Given the description of an element on the screen output the (x, y) to click on. 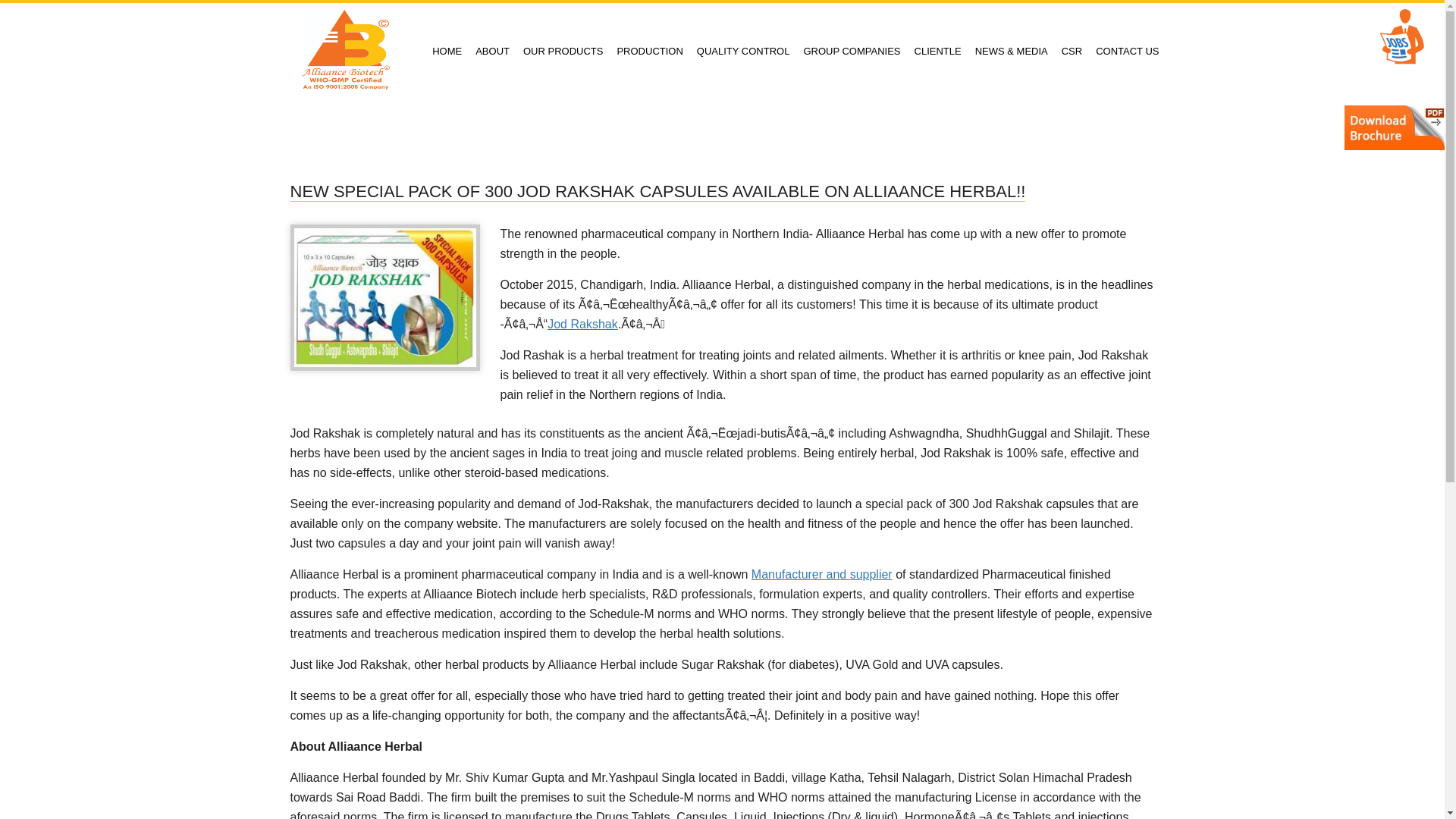
GROUP COMPANIES (851, 51)
HOME (446, 51)
PRODUCTION (649, 51)
ABOUT (492, 51)
CLIENTLE (937, 51)
Jod Rakshak (582, 323)
QUALITY CONTROL (743, 51)
OUR PRODUCTS (563, 51)
CONTACT US (1127, 51)
Manufacturer and supplier (821, 574)
